Given the description of an element on the screen output the (x, y) to click on. 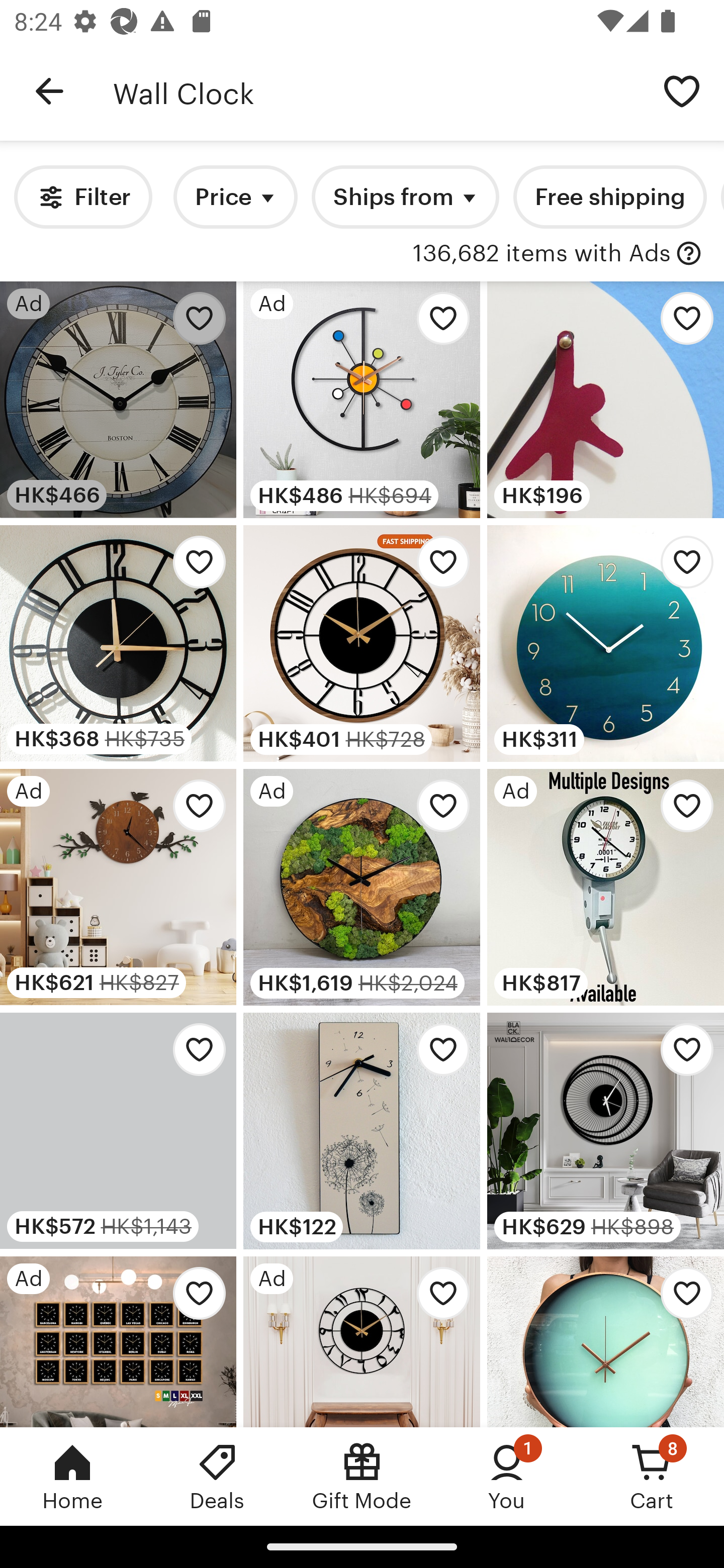
Navigate up (49, 91)
Save search (681, 90)
Wall Clock (375, 91)
Filter (82, 197)
Price (235, 197)
Ships from (405, 197)
Free shipping (609, 197)
136,682 items with Ads (541, 253)
with Ads (688, 253)
Add Fuchsia Hanging Man - Wall Clock to favorites (681, 322)
Add Dandelion Seeds - Wall Clock to favorites (438, 1054)
Deals (216, 1475)
Gift Mode (361, 1475)
You, 1 new notification You (506, 1475)
Cart, 8 new notifications Cart (651, 1475)
